Given the description of an element on the screen output the (x, y) to click on. 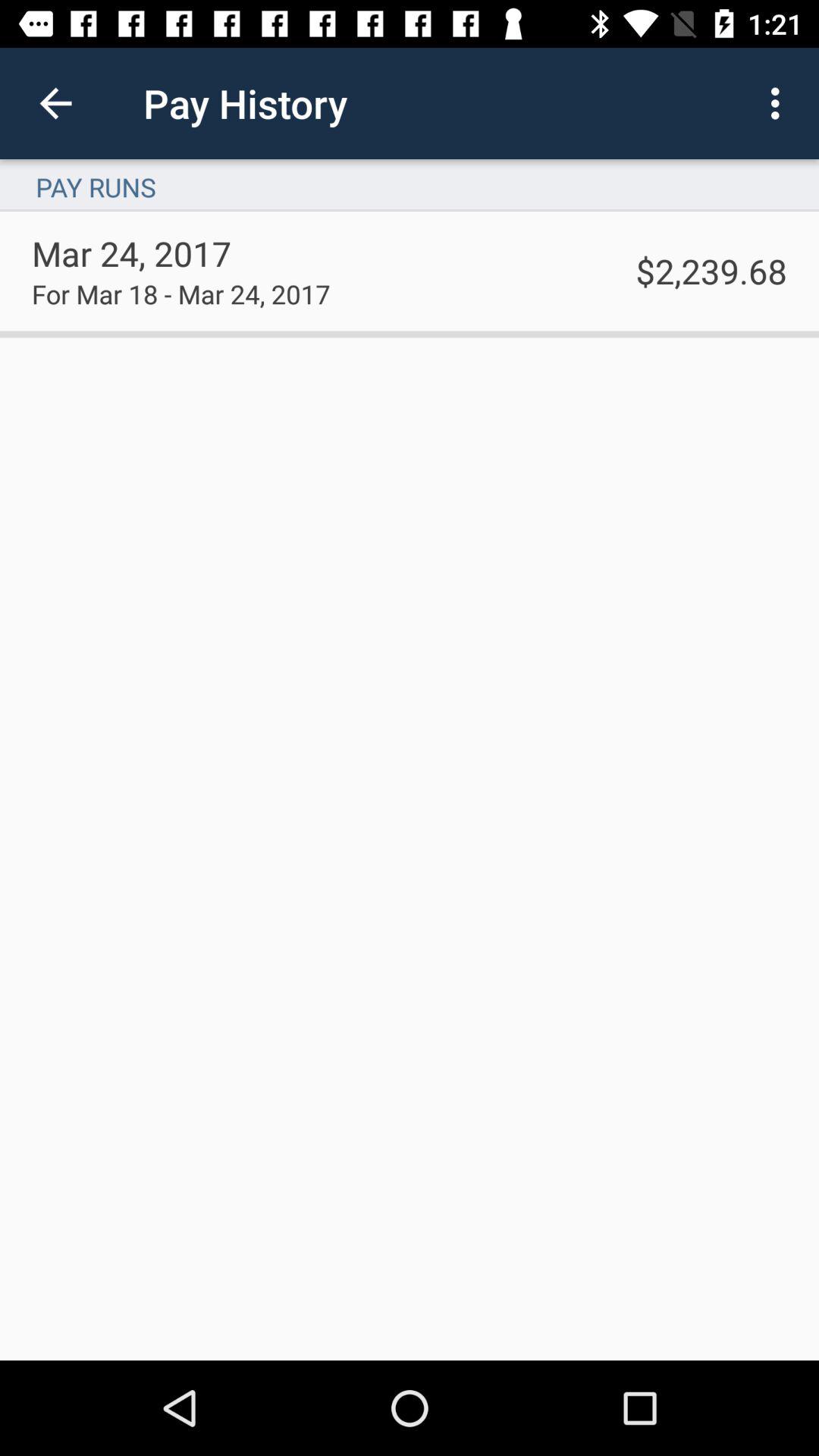
select the icon next to $2,239.68 icon (180, 293)
